Given the description of an element on the screen output the (x, y) to click on. 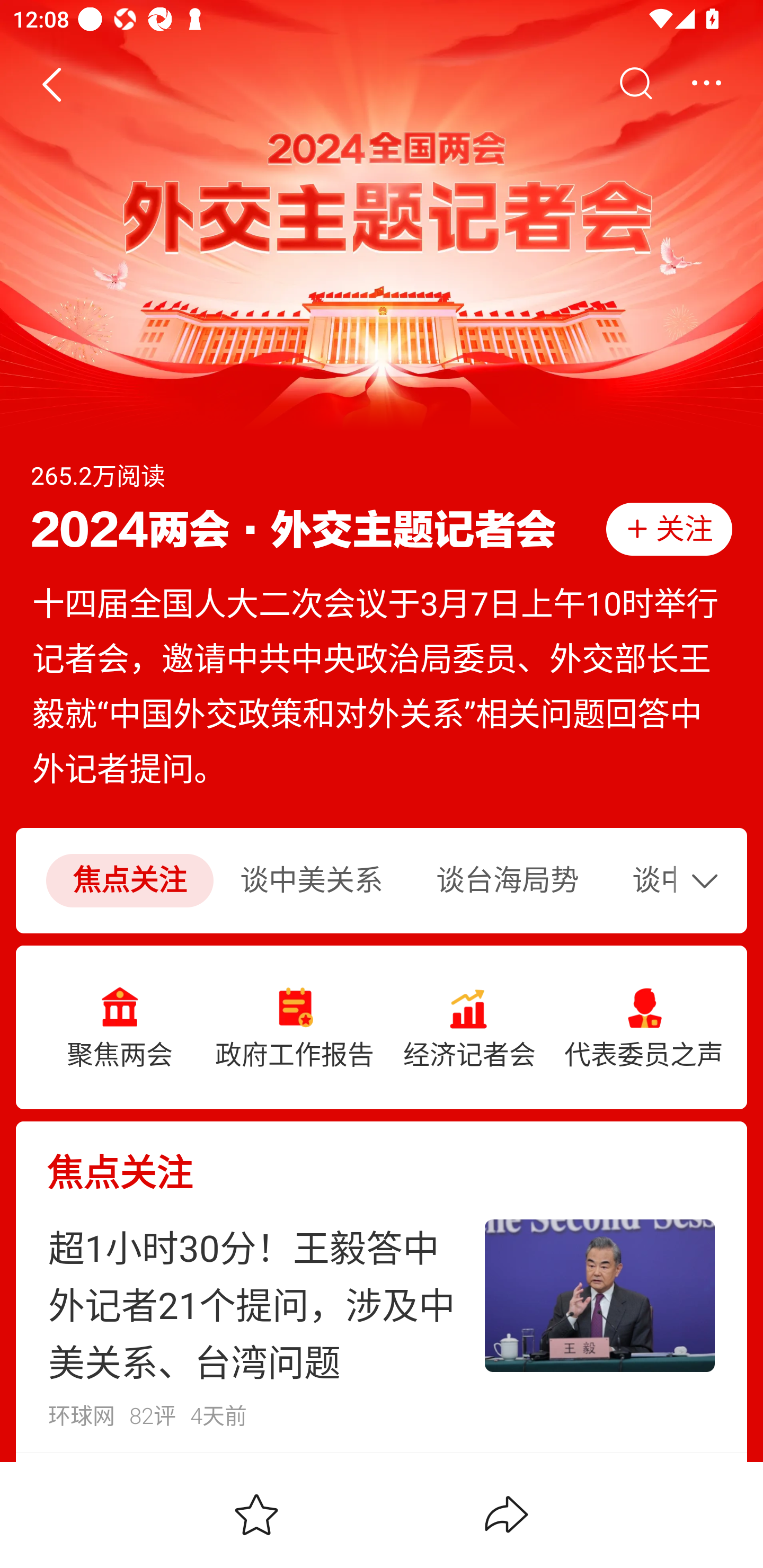
 (50, 83)
 (634, 83)
 (705, 83)
 关注 (668, 529)
焦点关注 (129, 880)
谈中美关系 (311, 880)
谈台海局势 (507, 880)
 (708, 880)
聚焦两会 (119, 1027)
政府工作报告 (294, 1027)
经济记者会 (469, 1027)
代表委员之声 (643, 1027)
焦点关注 (381, 1157)
超1小时30分！王毅答中外记者21个提问，涉及中美关系、台湾问题 环球网 82评 4天前 (381, 1322)
收藏  (255, 1514)
分享  (506, 1514)
